Given the description of an element on the screen output the (x, y) to click on. 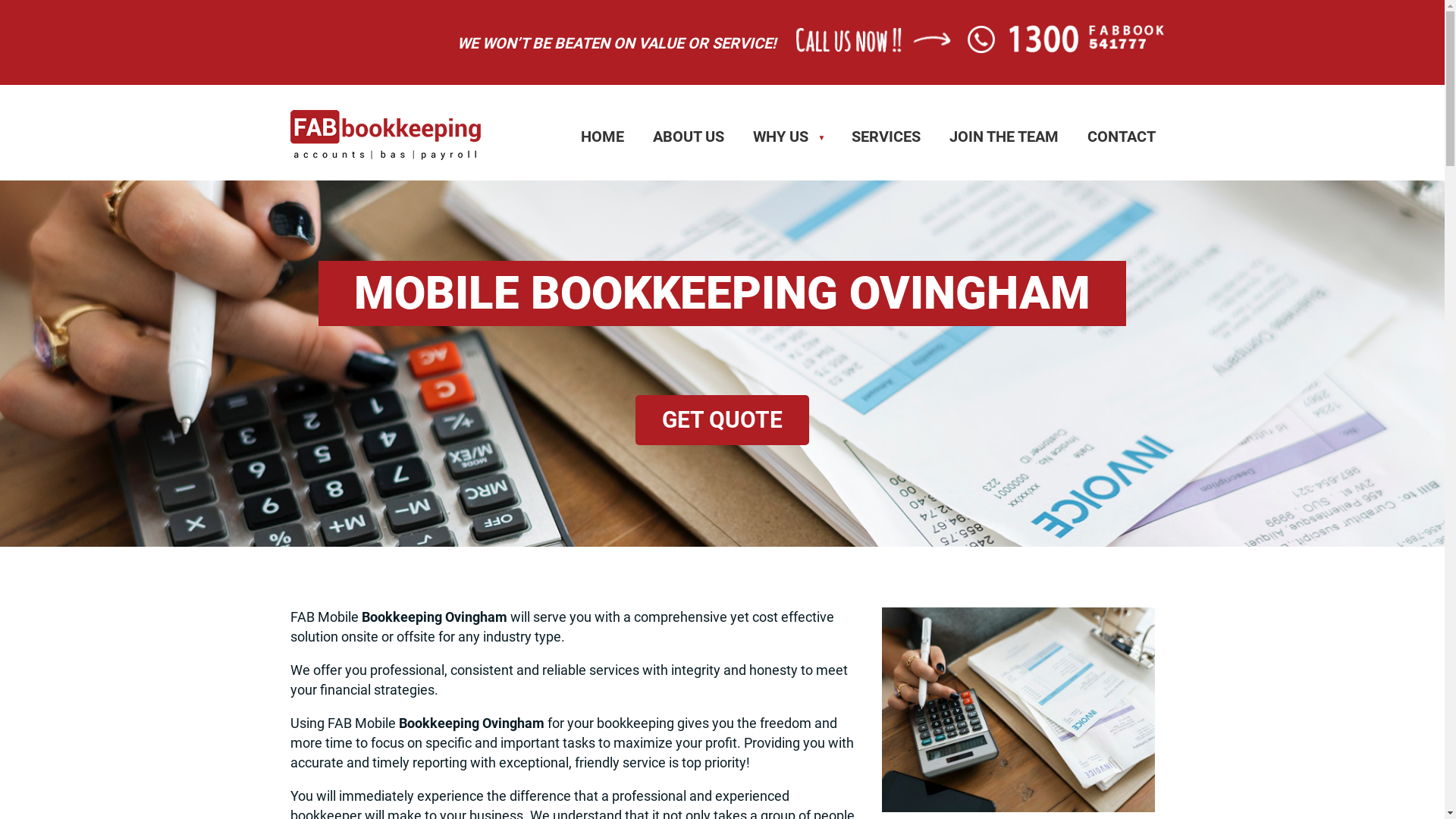
SERVICES Element type: text (885, 136)
GET QUOTE Element type: text (722, 420)
HOME Element type: text (602, 136)
ABOUT US Element type: text (688, 136)
JOIN THE TEAM Element type: text (1003, 136)
WHY US Element type: text (787, 136)
CONTACT Element type: text (1121, 136)
